Given the description of an element on the screen output the (x, y) to click on. 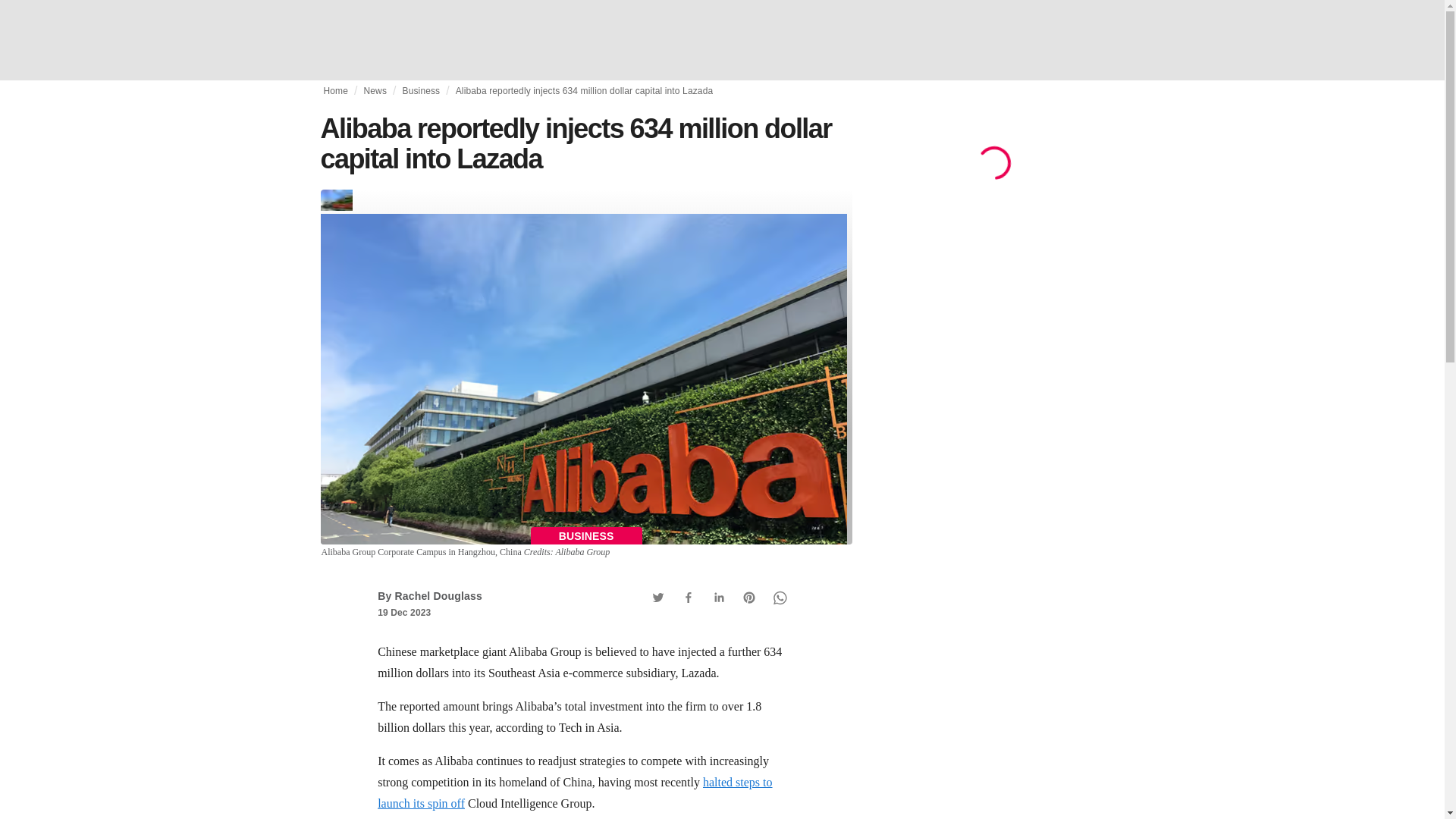
Business (420, 90)
News (375, 90)
By Rachel Douglass (429, 595)
halted steps to launch its spin off (574, 792)
Home (335, 90)
